Given the description of an element on the screen output the (x, y) to click on. 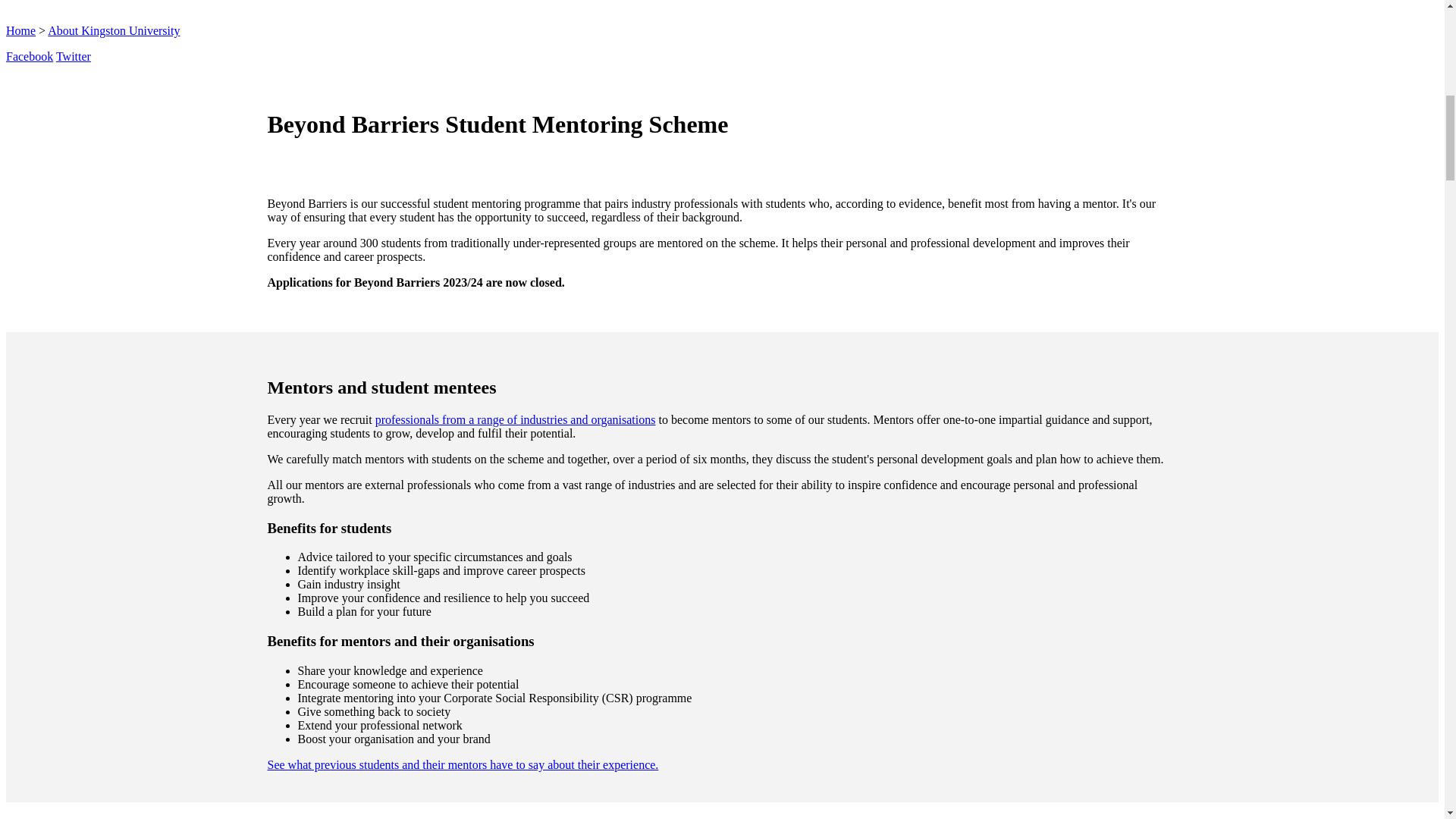
Twitter (73, 56)
Home (19, 30)
professionals from a range of industries and organisations (515, 419)
Facebook (28, 56)
About Kingston University (113, 30)
